Given the description of an element on the screen output the (x, y) to click on. 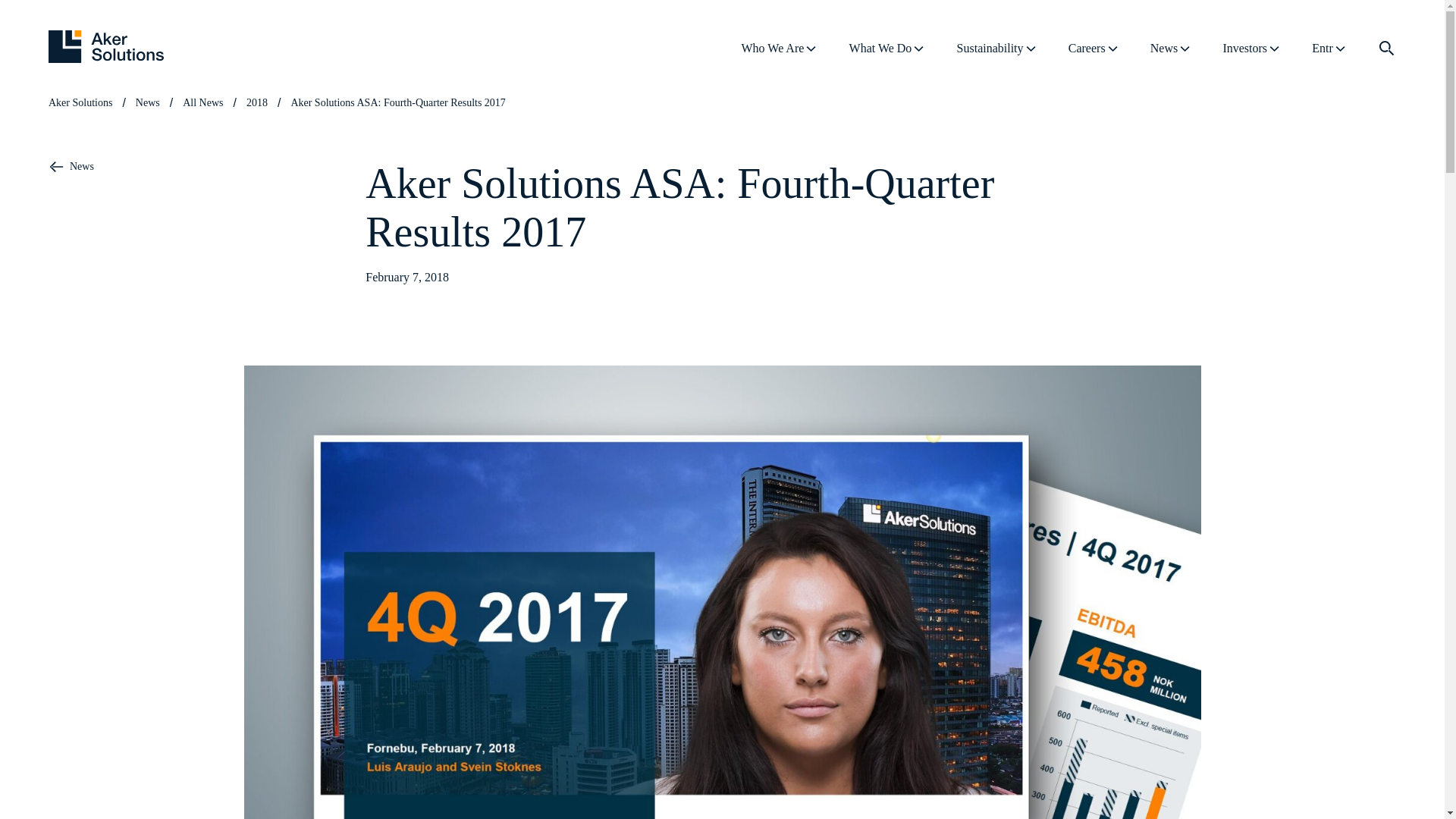
Careers (1093, 48)
News (1171, 48)
What We Do (887, 48)
Who We Are (779, 48)
Sustainability (997, 48)
